Given the description of an element on the screen output the (x, y) to click on. 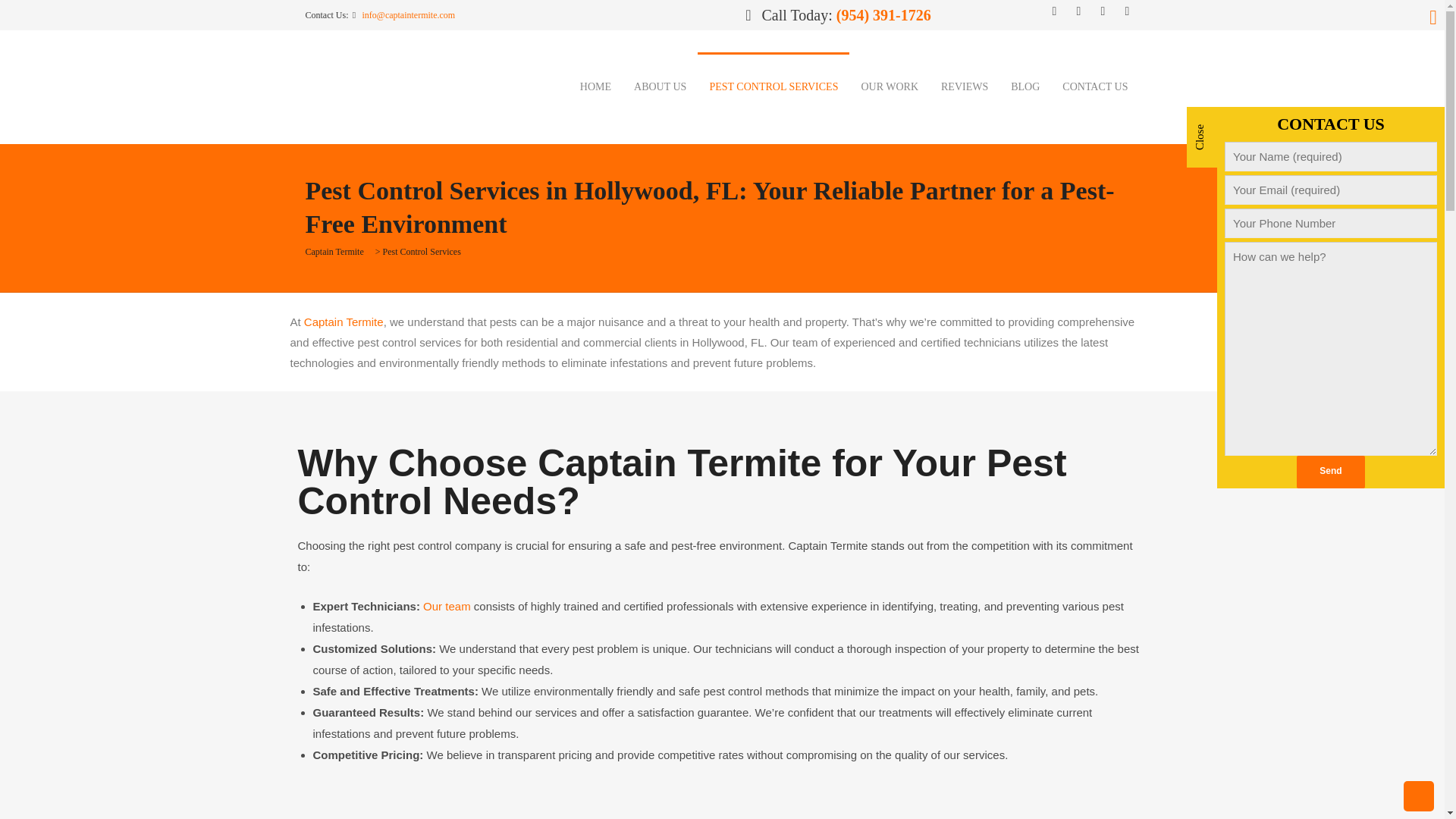
Yelp (1102, 10)
Instagram (1127, 10)
Send (1330, 471)
Twitter (1079, 10)
ABOUT US (660, 87)
REVIEWS (964, 87)
OUR WORK (889, 87)
CONTACT US (1094, 87)
Captain Termite (418, 85)
PEST CONTROL SERVICES (772, 87)
Go to Captain Termite. (333, 251)
Facebook (1054, 10)
BLOG (1024, 87)
HOME (596, 87)
